Given the description of an element on the screen output the (x, y) to click on. 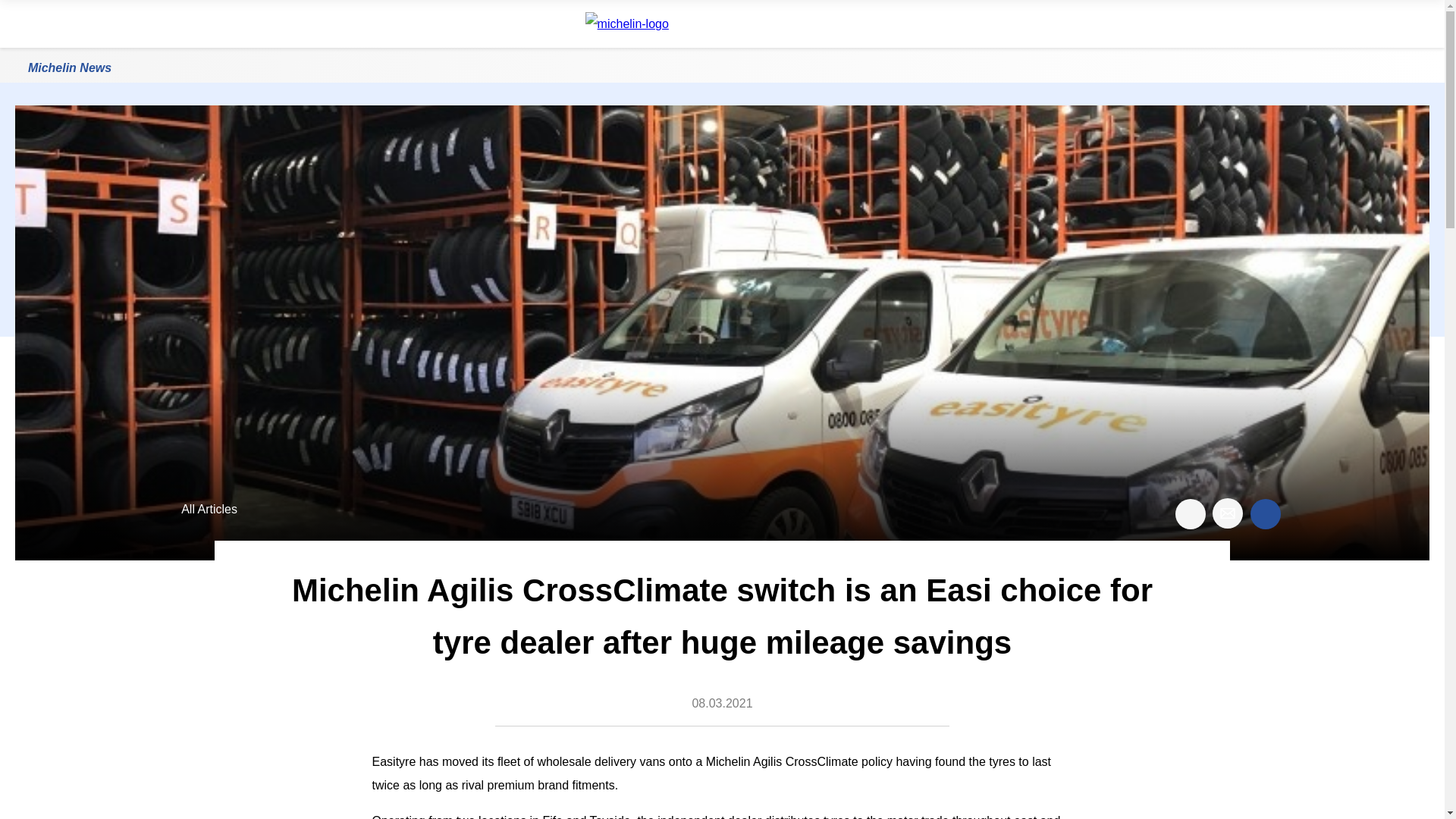
West (167, 509)
header-search (1416, 24)
michelin-logo (644, 24)
Michelin News (69, 66)
West All Articles (196, 513)
